Given the description of an element on the screen output the (x, y) to click on. 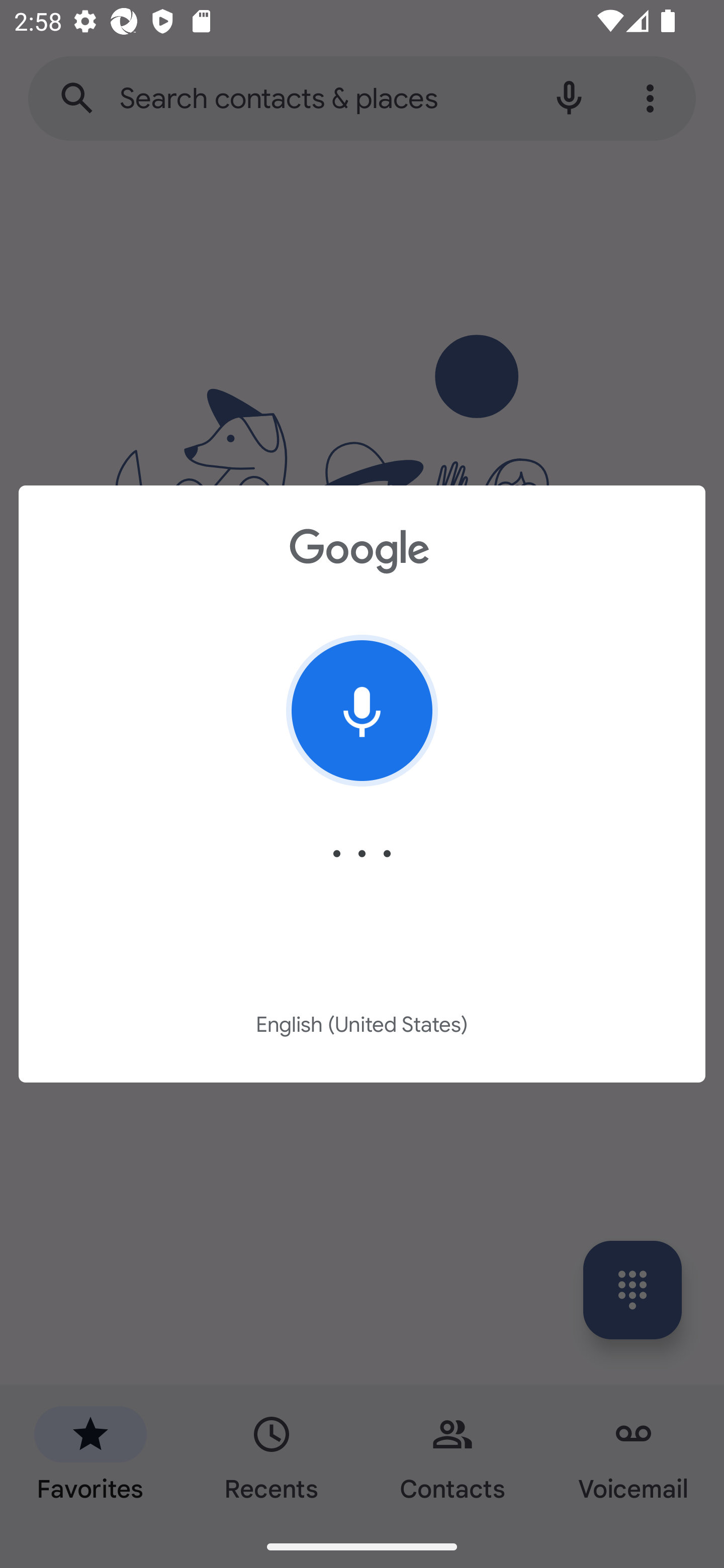
Tap to stop listening (361, 710)
